Given the description of an element on the screen output the (x, y) to click on. 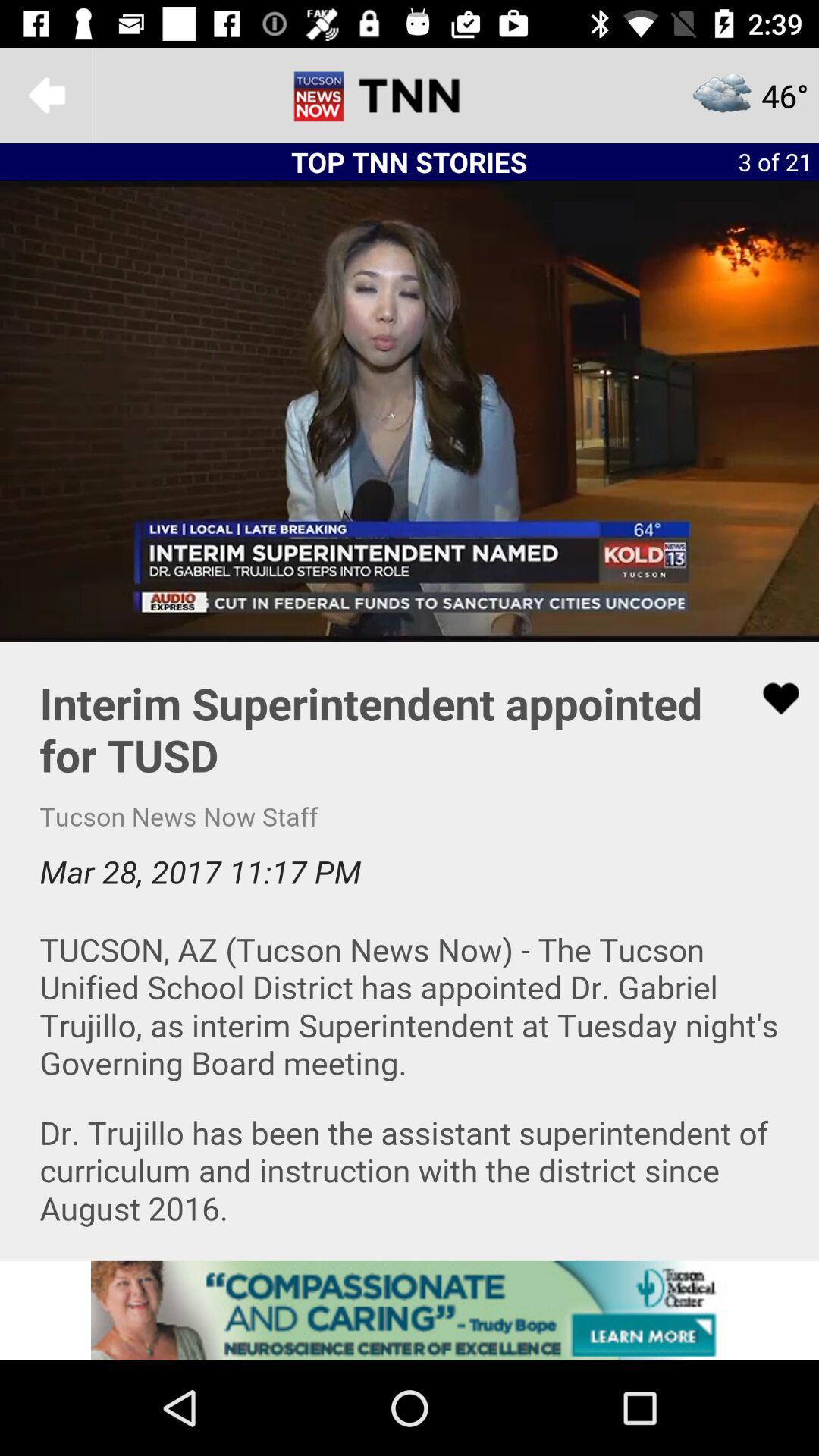
link to homepage (409, 95)
